Given the description of an element on the screen output the (x, y) to click on. 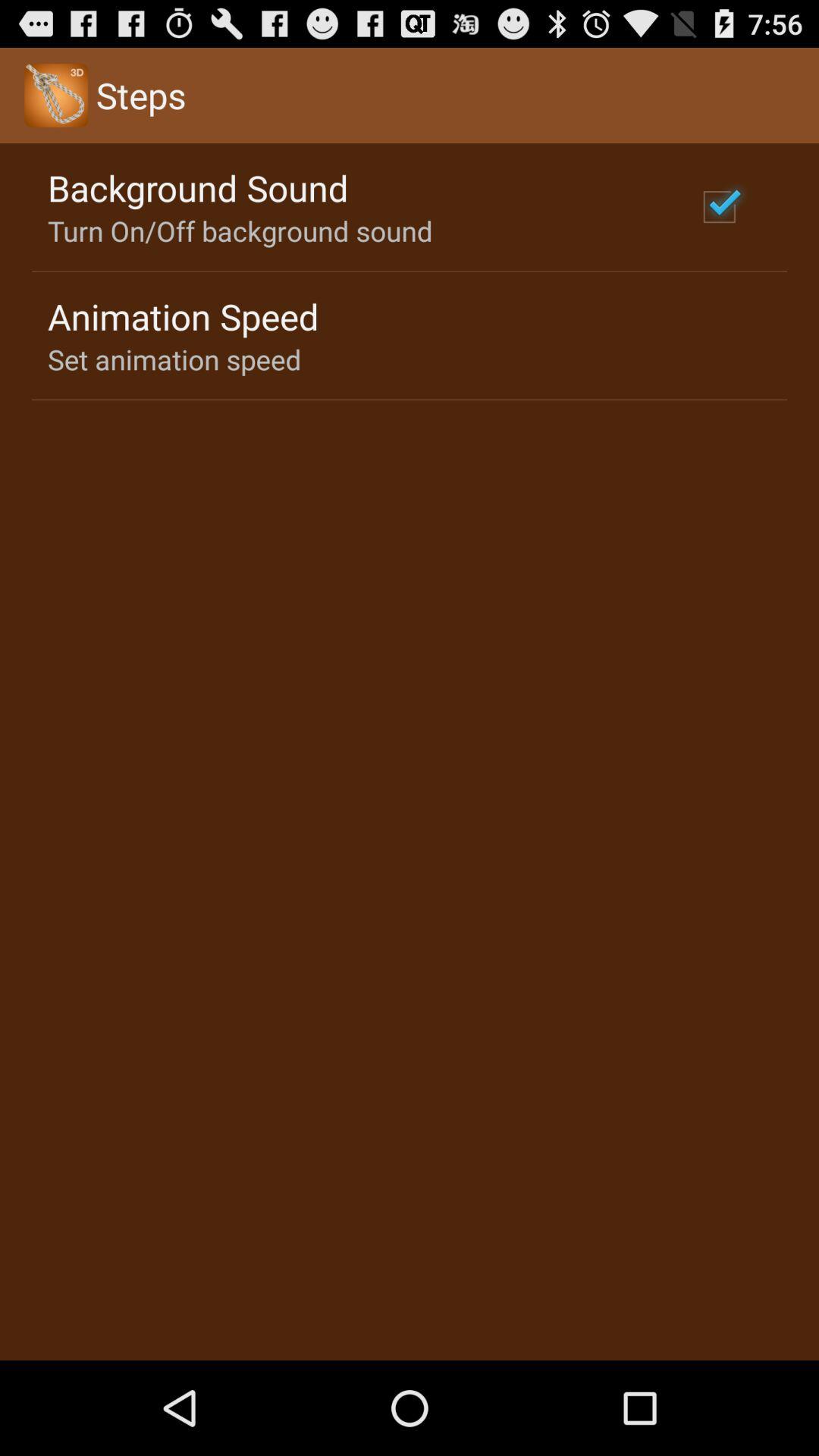
select the item at the top right corner (719, 206)
